Given the description of an element on the screen output the (x, y) to click on. 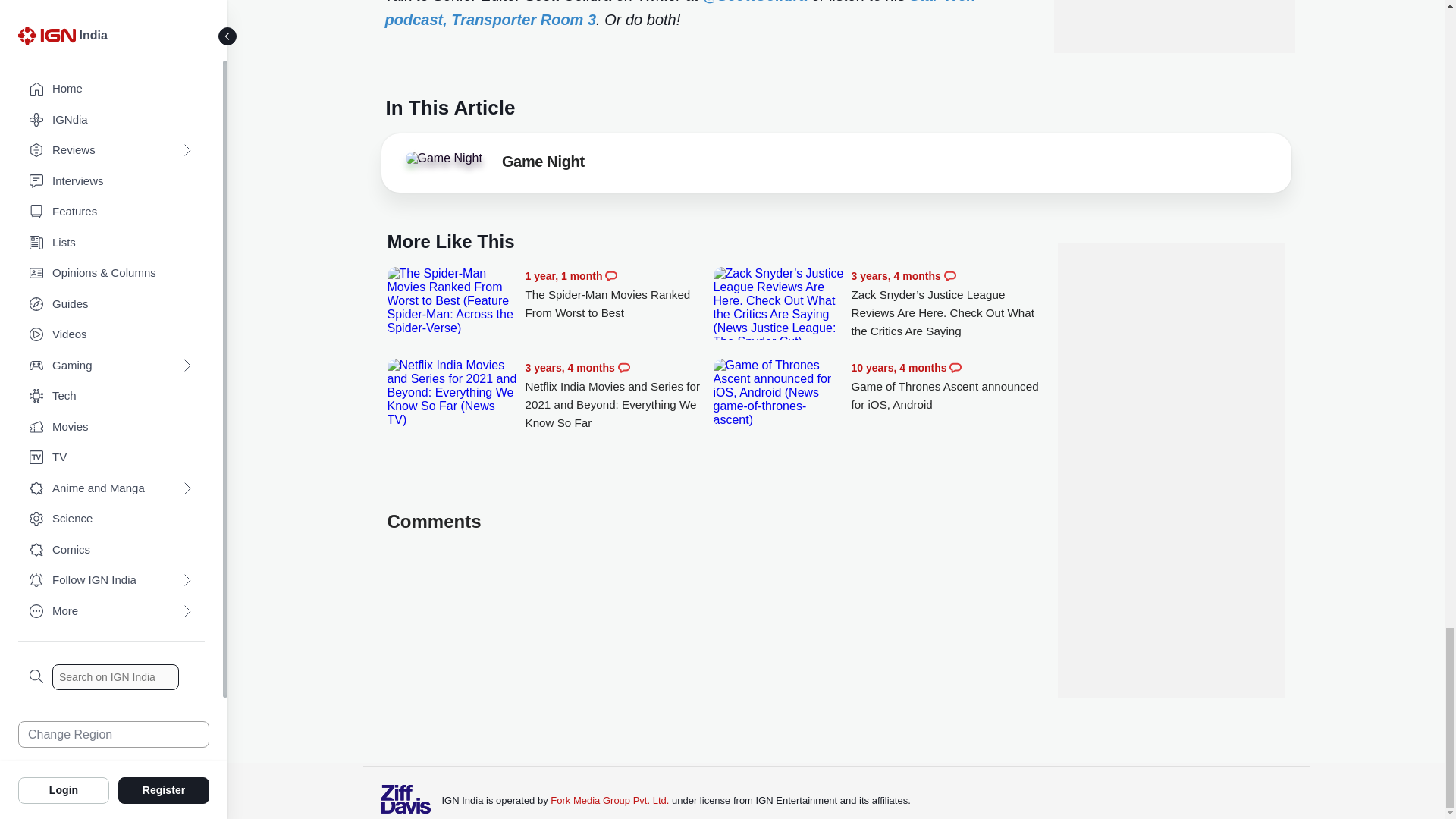
The Spider-Man Movies Ranked From Worst to Best (618, 294)
Game Night (543, 164)
The Spider-Man Movies Ranked From Worst to Best (451, 300)
Game of Thrones Ascent announced for iOS, Android (778, 392)
Game of Thrones Ascent announced for iOS, Android (944, 386)
Game Night (448, 162)
Game Night (442, 158)
